Given the description of an element on the screen output the (x, y) to click on. 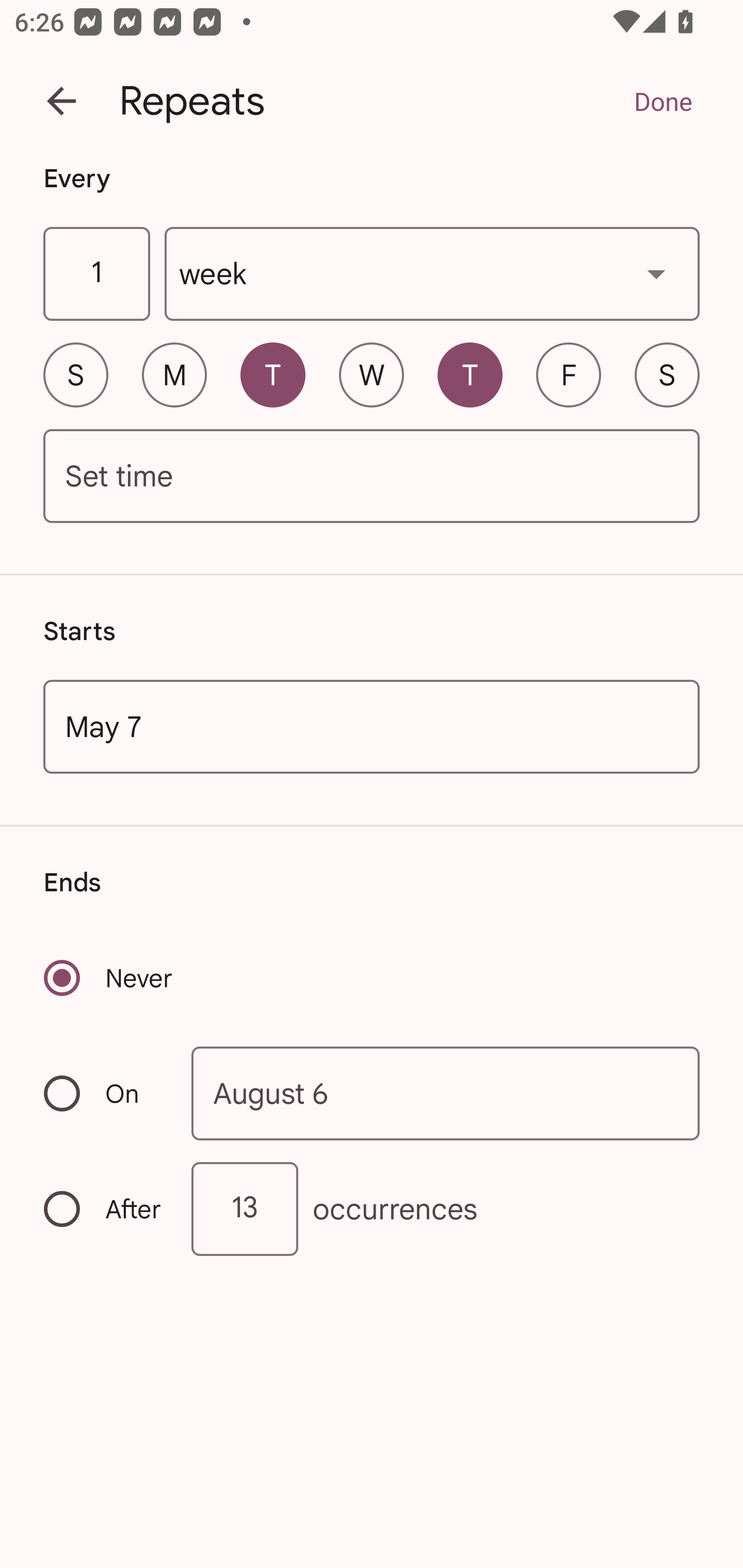
Back (61, 101)
Done (663, 101)
1 (96, 274)
week (431, 274)
Show dropdown menu (655, 273)
S Sunday (75, 374)
M Monday (173, 374)
T Tuesday, selected (272, 374)
W Wednesday (371, 374)
T Thursday, selected (469, 374)
F Friday (568, 374)
S Saturday (666, 374)
Set time (371, 476)
May 7 (371, 726)
Never Recurrence never ends (109, 978)
August 6 (445, 1092)
On Recurrence ends on a specific date (104, 1093)
13 (244, 1208)
